Given the description of an element on the screen output the (x, y) to click on. 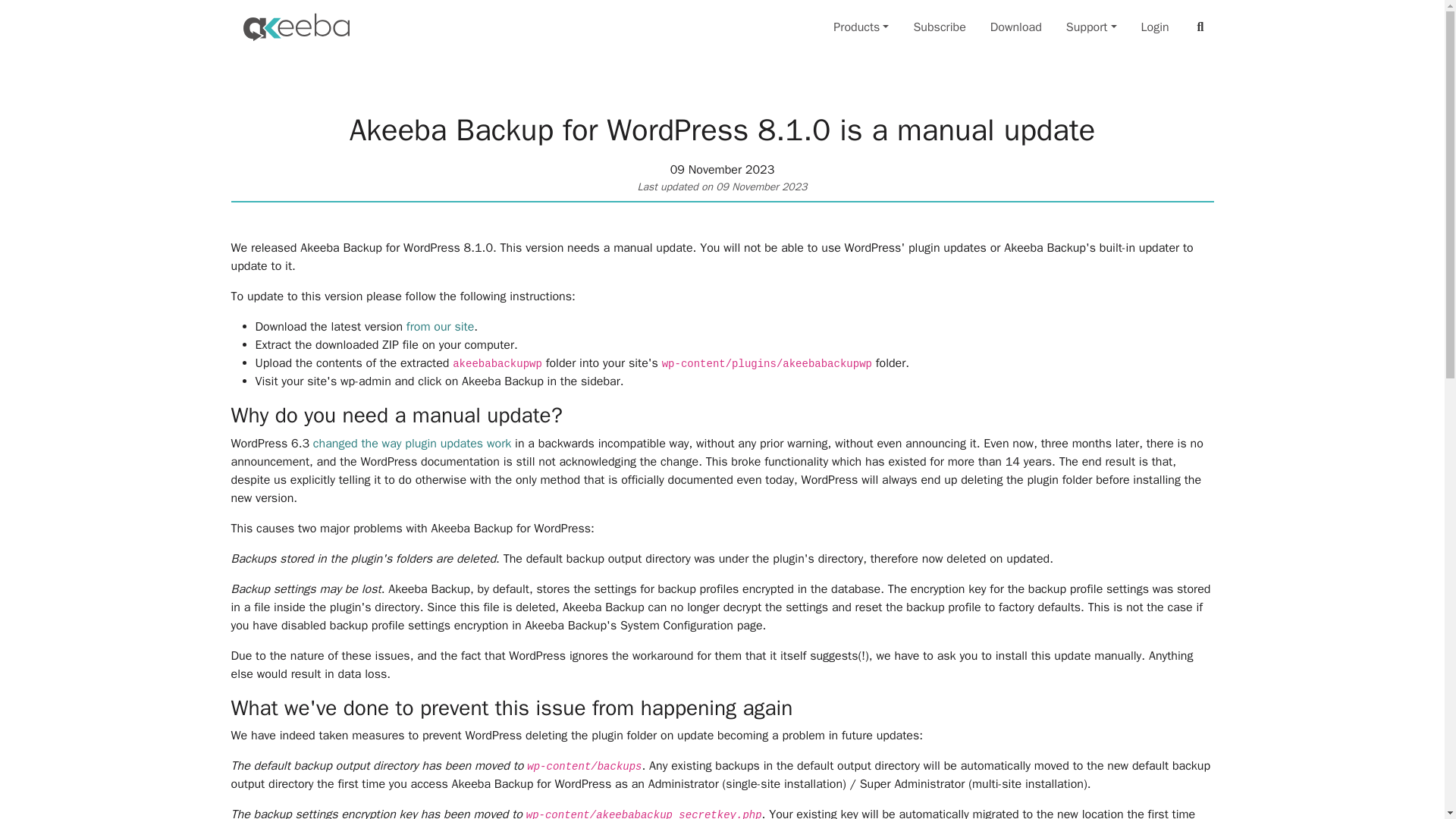
Login (1154, 27)
Download (1016, 27)
Subscribe (939, 27)
Search our site (1201, 27)
Support (1090, 27)
Products (861, 27)
